Given the description of an element on the screen output the (x, y) to click on. 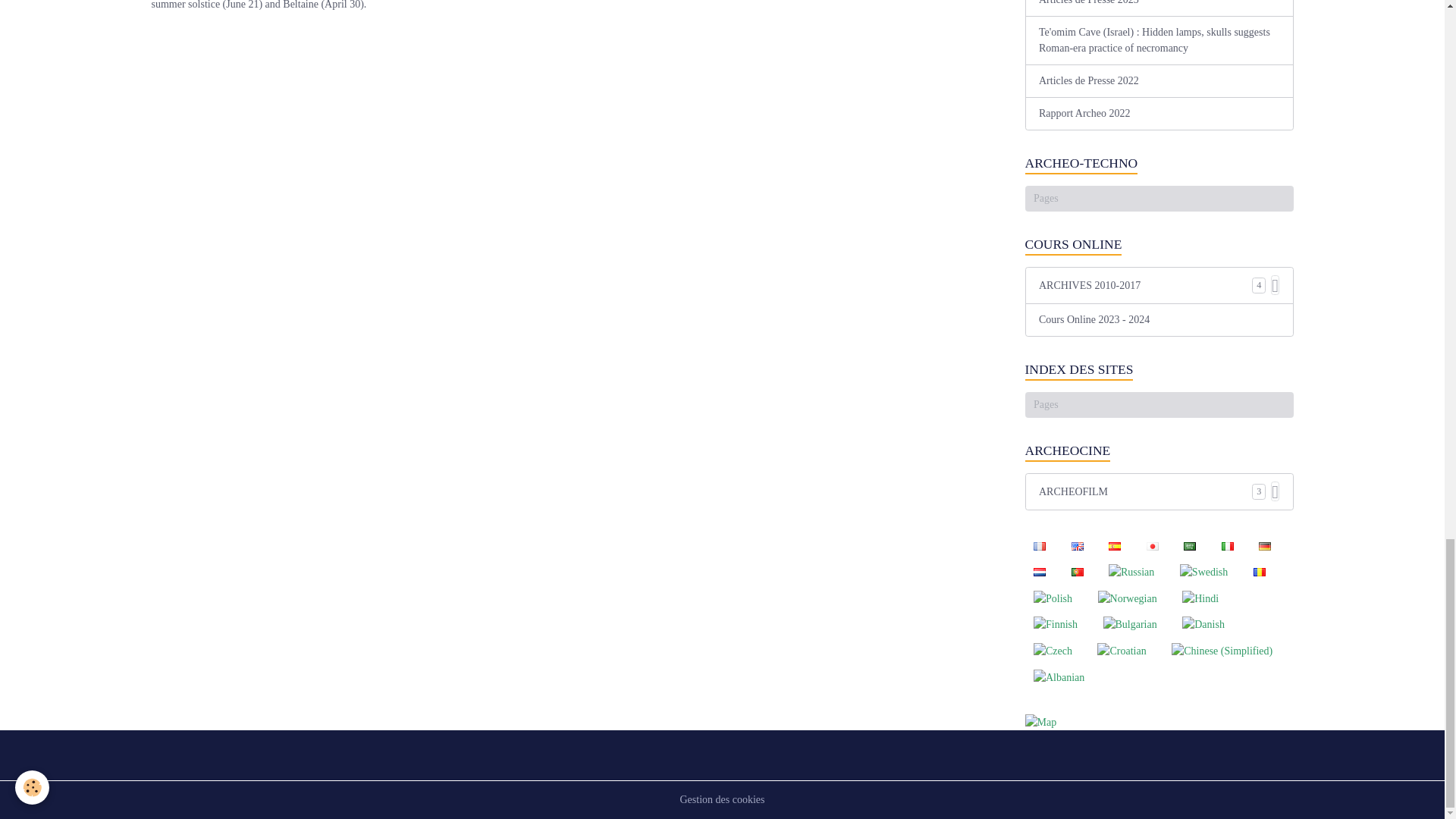
Nederlands (1039, 571)
Swedish (1203, 570)
Russian (1130, 570)
Czech (1053, 651)
Italiano (1226, 545)
Portuguesa (1077, 571)
Finnish (1055, 624)
Deutsch (1264, 545)
Romanian (1259, 571)
Japanese (1152, 545)
Hindi (1200, 597)
Danish (1203, 624)
Norwegian (1127, 597)
Arabic (1189, 545)
Polish (1053, 597)
